Given the description of an element on the screen output the (x, y) to click on. 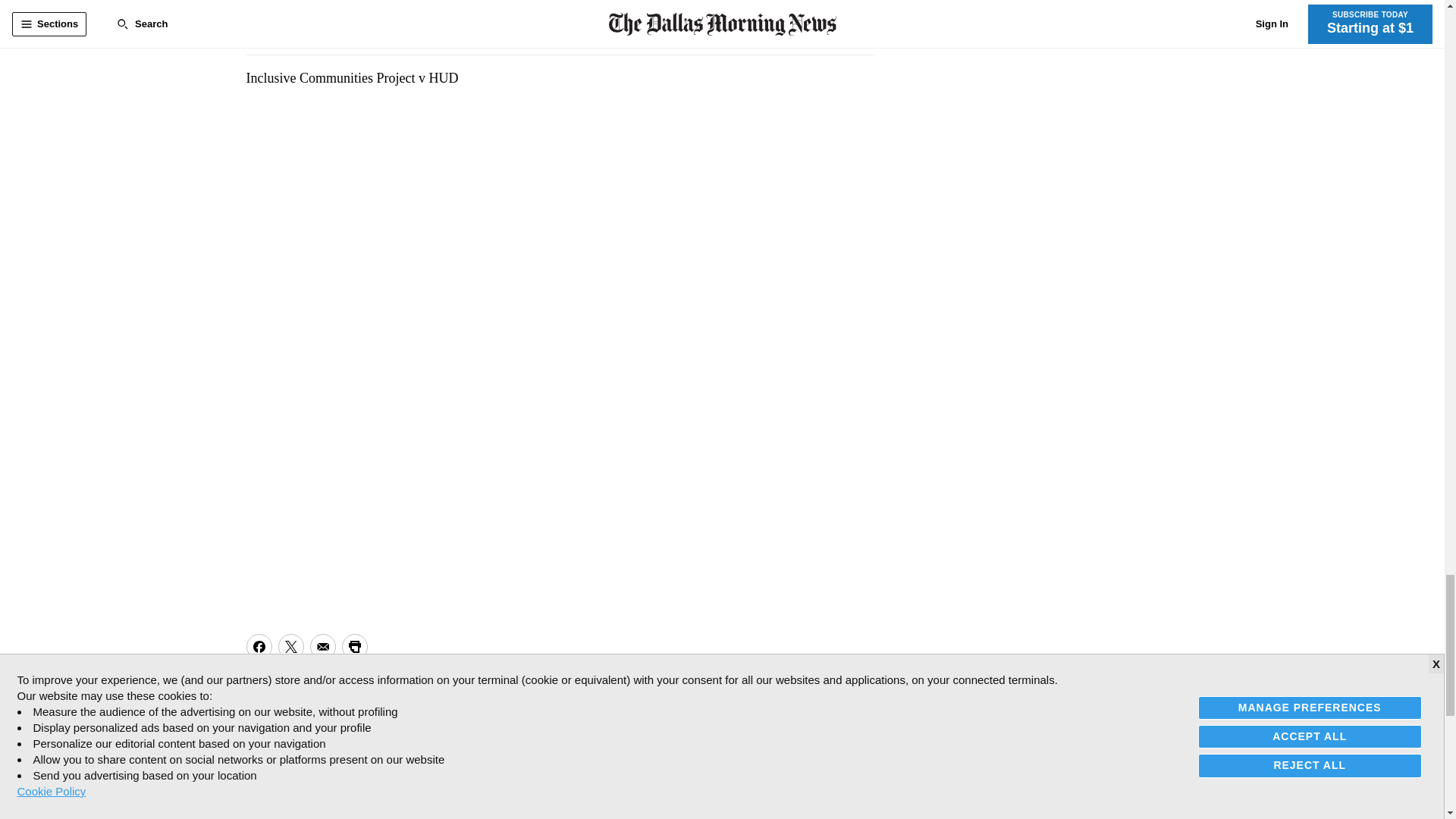
Share on Facebook (258, 646)
Print (353, 646)
Share via Email (321, 646)
Share on Twitter (290, 646)
